Given the description of an element on the screen output the (x, y) to click on. 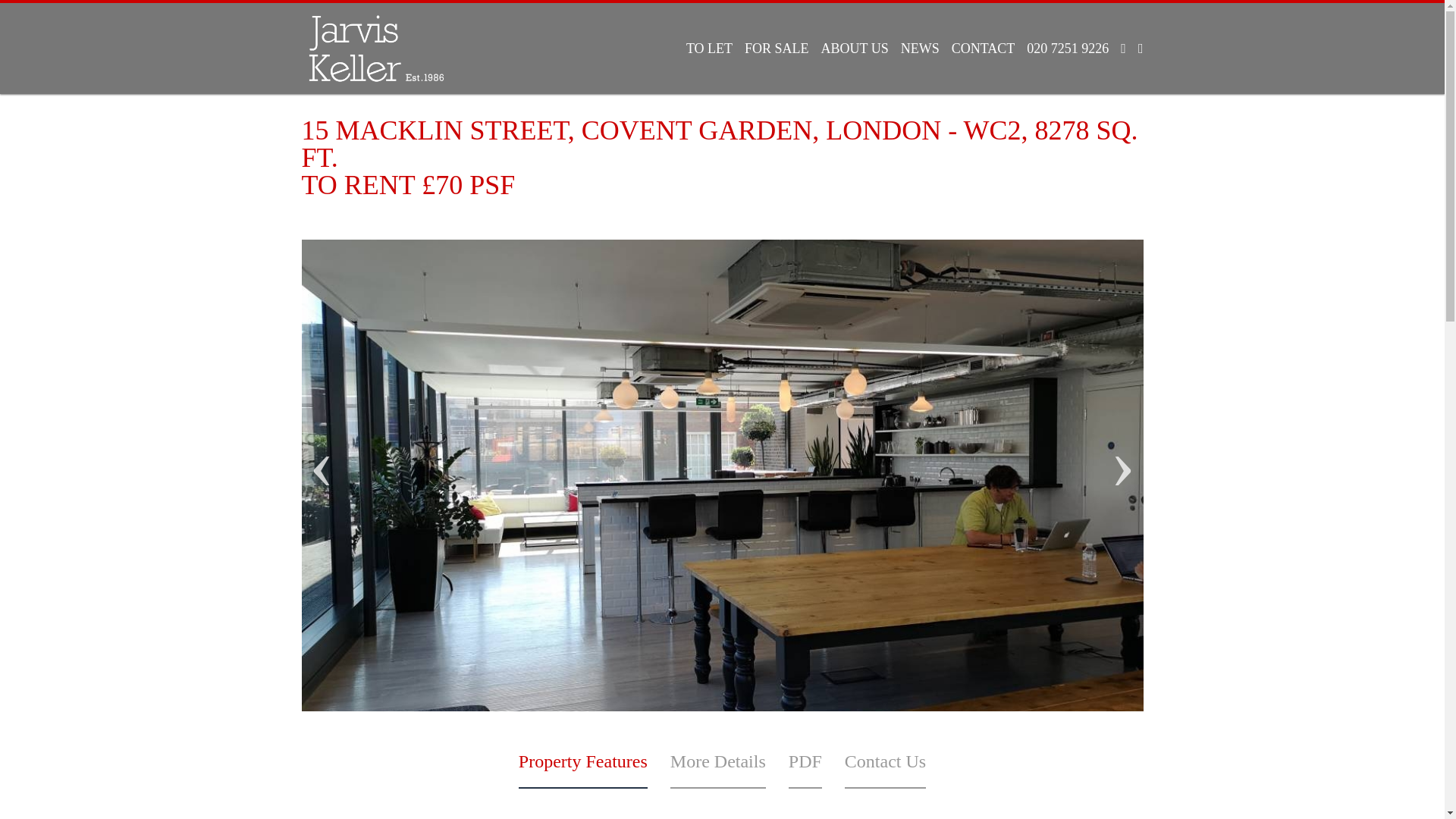
020 7251 9226 (1067, 47)
CONTACT (983, 47)
ABOUT US (855, 47)
FOR SALE (776, 47)
